Given the description of an element on the screen output the (x, y) to click on. 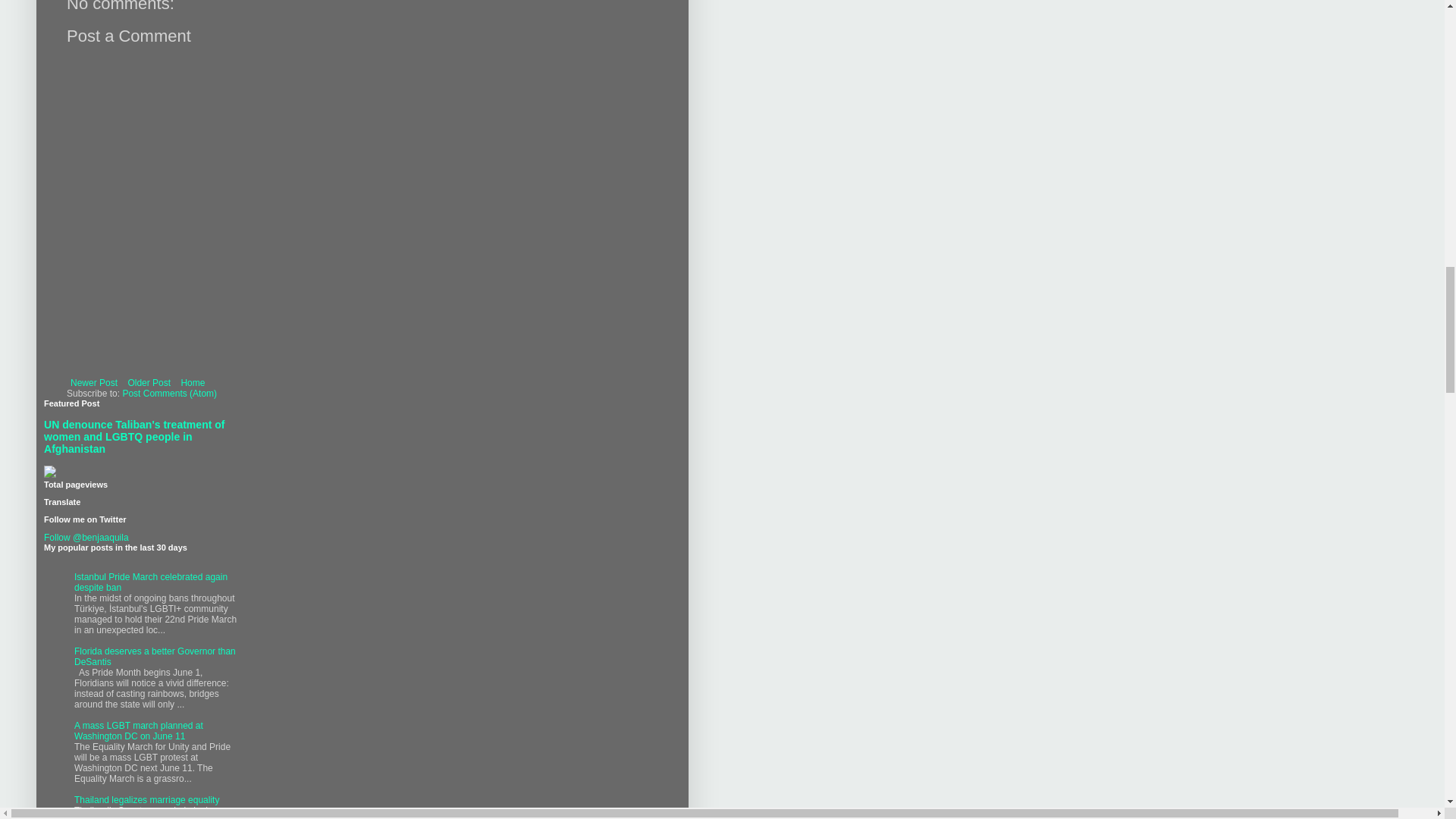
Newer Post (93, 382)
Thailand legalizes marriage equality (146, 799)
Older Post (148, 382)
Florida deserves a better Governor than DeSantis (154, 656)
A mass LGBT march planned at Washington DC on June 11 (138, 731)
Older Post (148, 382)
Home (192, 382)
Newer Post (93, 382)
Istanbul Pride March celebrated again despite ban (150, 581)
